Given the description of an element on the screen output the (x, y) to click on. 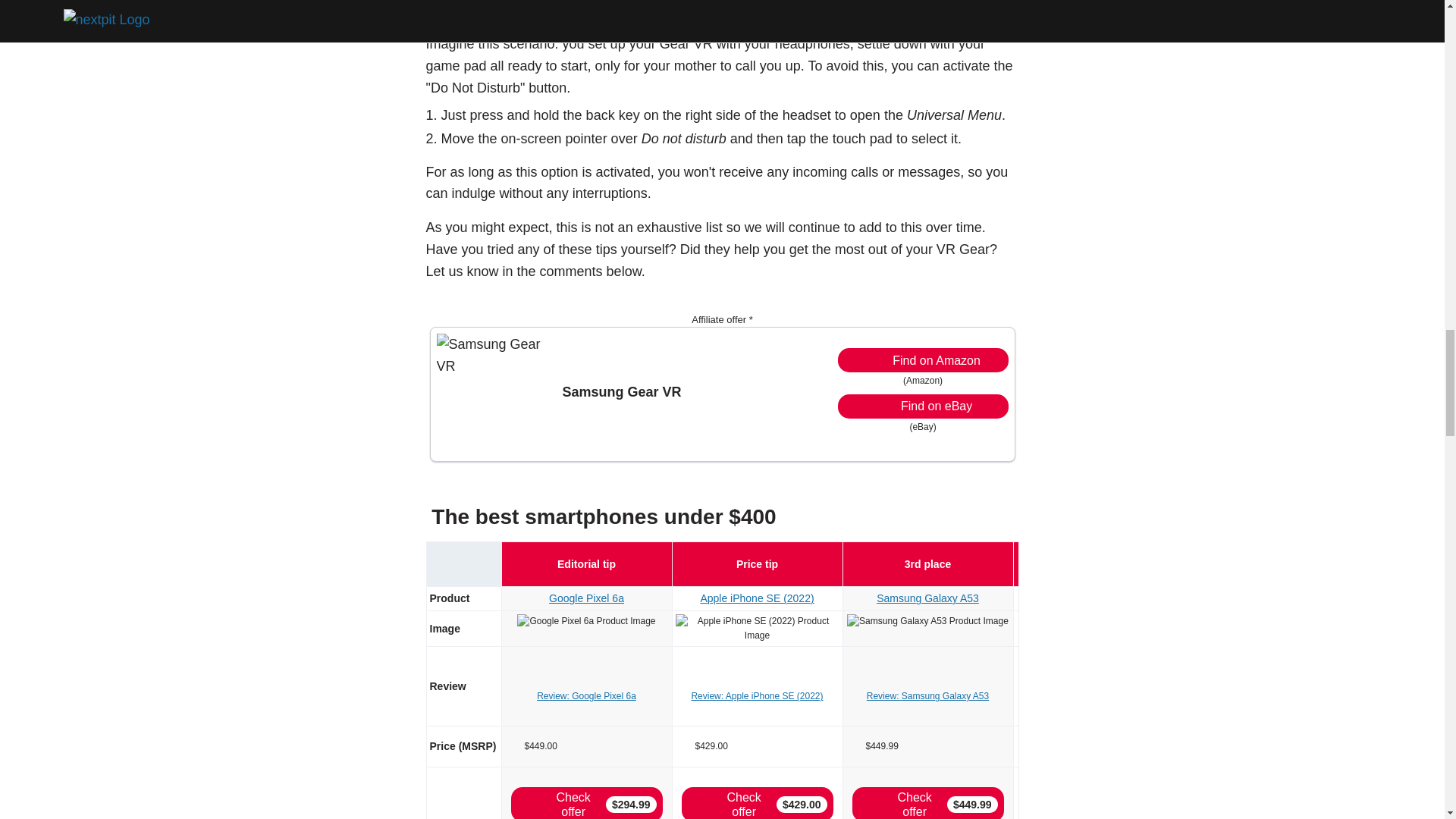
Samsung Galaxy A53 Product Image (928, 621)
OnePlus Nord N20 Product Image (1098, 621)
Google Pixel 6a Product Image (585, 621)
